Given the description of an element on the screen output the (x, y) to click on. 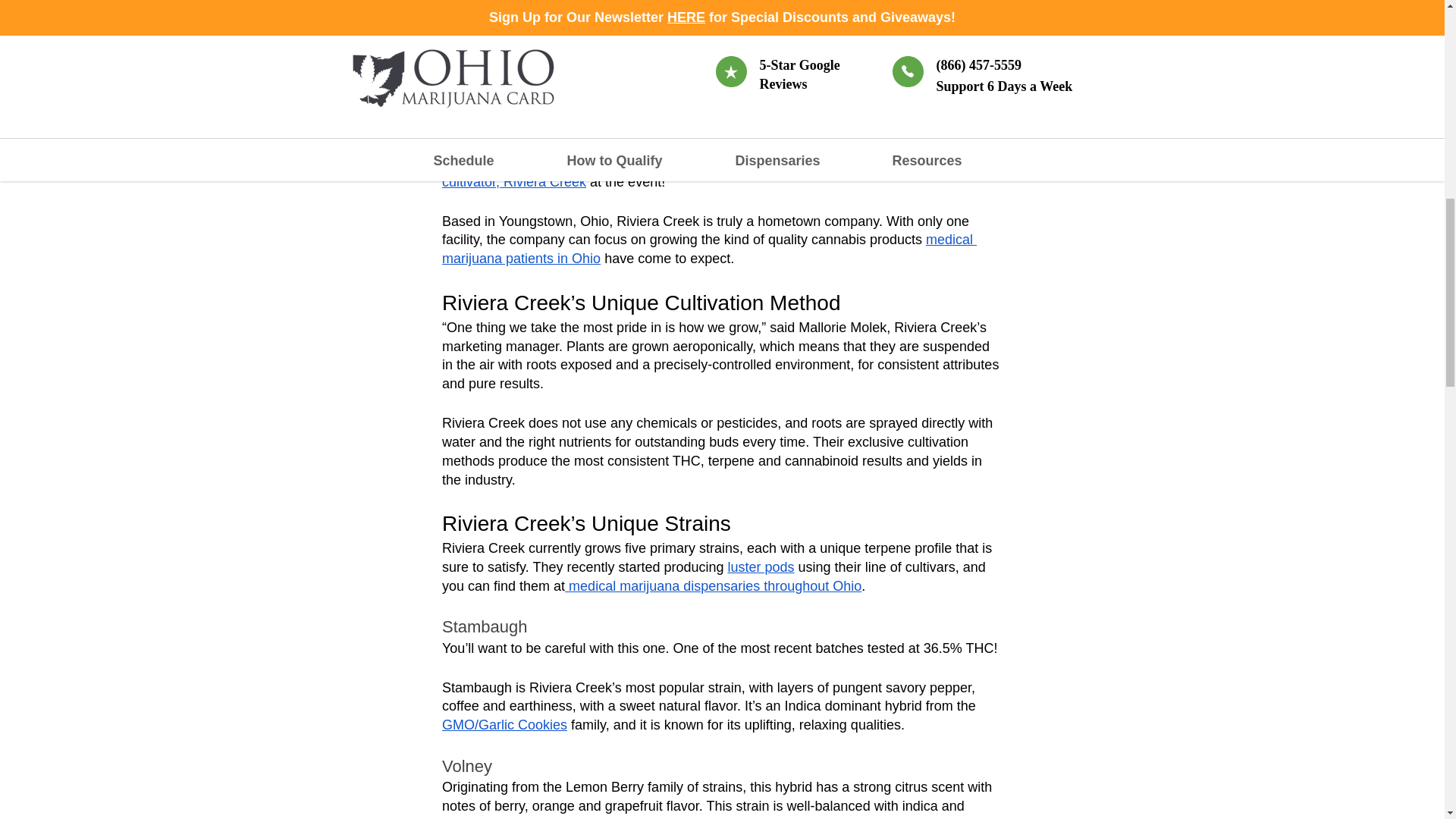
Ohio Marijuana Expo 2021 (909, 143)
